Given the description of an element on the screen output the (x, y) to click on. 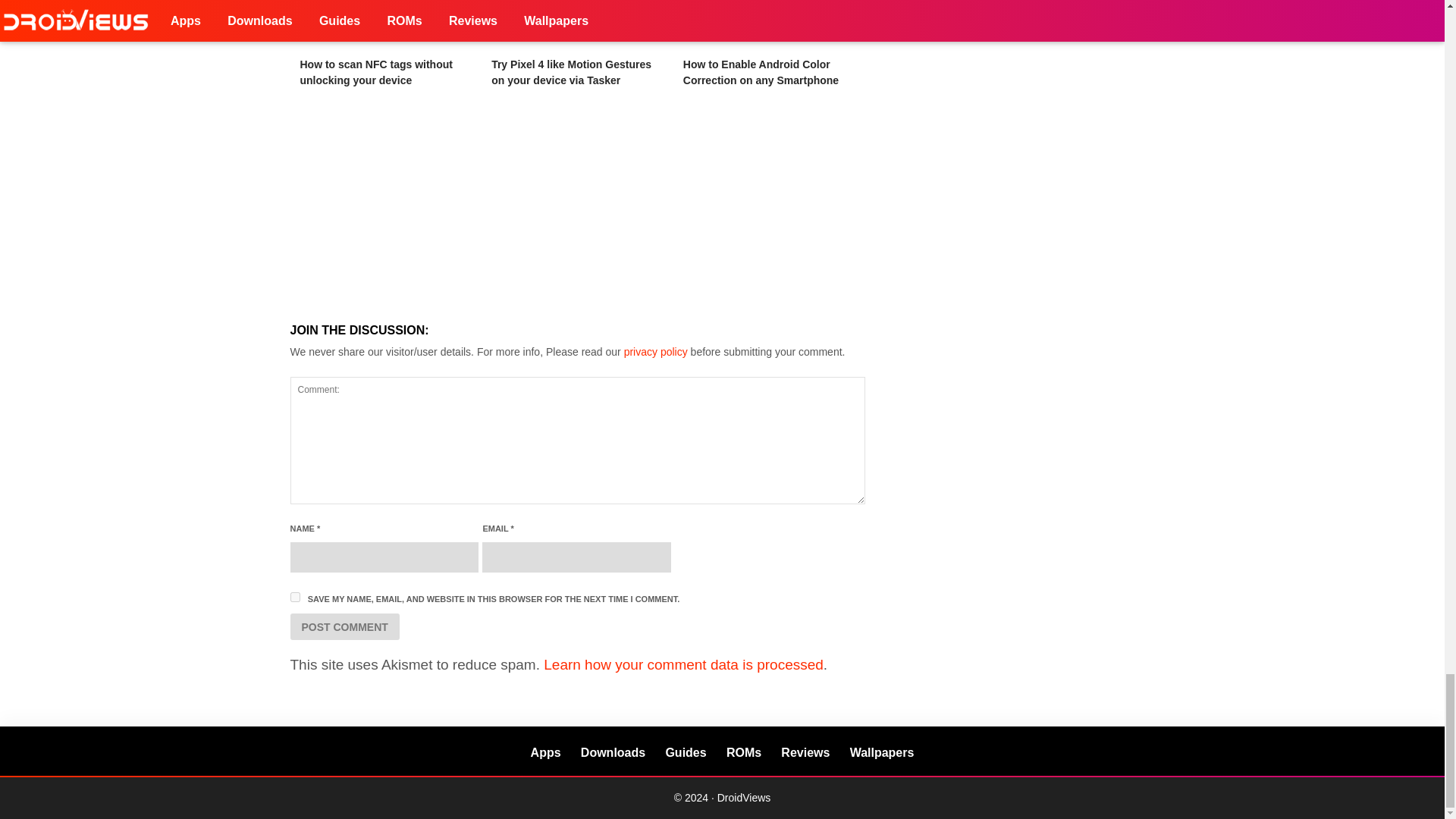
comment-policy-title (655, 351)
privacy policy (655, 351)
Learn how your comment data is processed (683, 664)
How to Enable Android Color Correction on any Smartphone (760, 72)
Downloads (612, 752)
Try Pixel 4 like Motion Gestures on your device via Tasker (577, 25)
How to scan NFC tags without unlocking your device (385, 25)
How to Enable Android Color Correction on any Smartphone (769, 25)
Post Comment (343, 626)
Try Pixel 4 like Motion Gestures on your device via Tasker (571, 72)
